Given the description of an element on the screen output the (x, y) to click on. 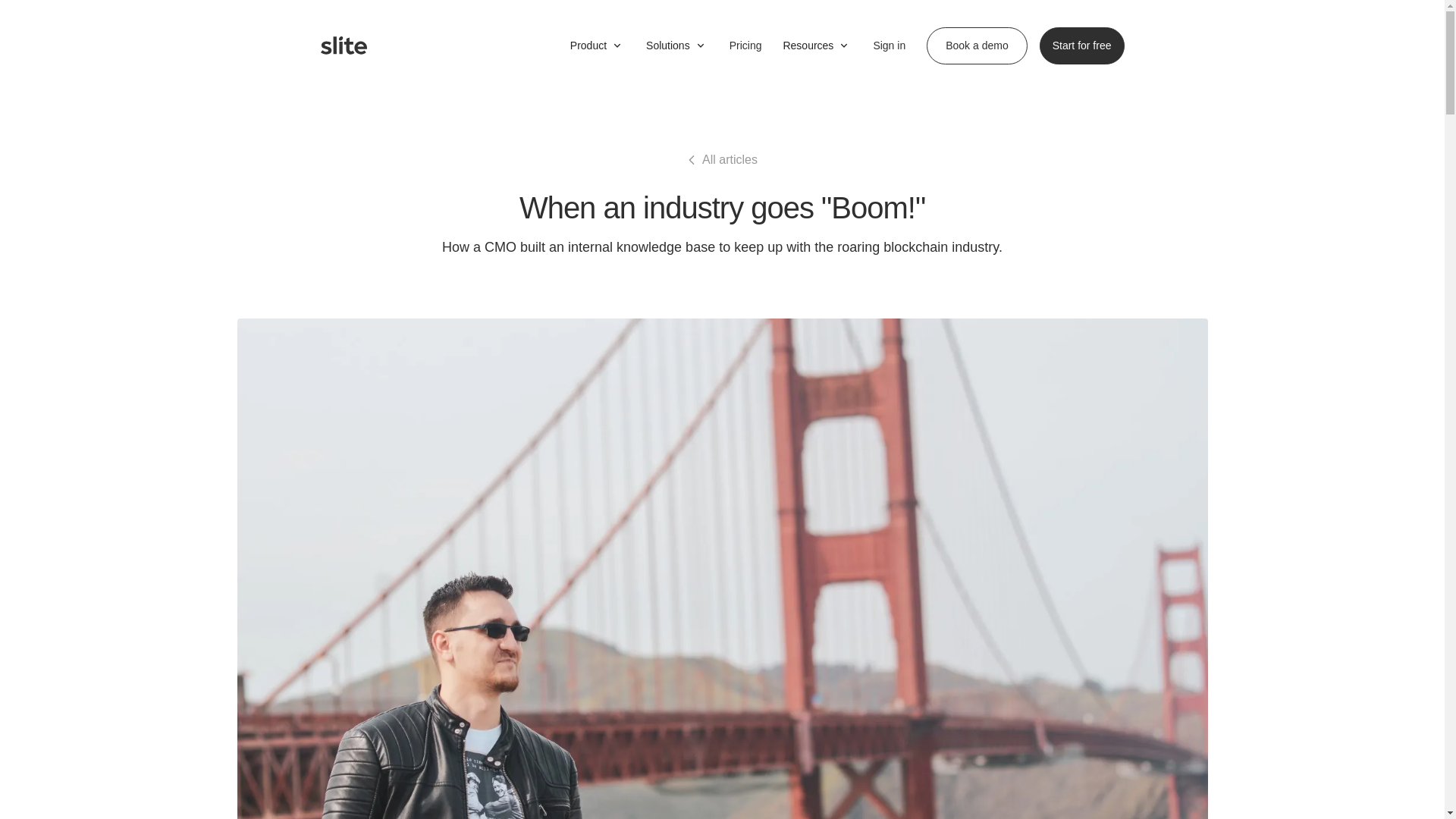
Book a demo (976, 45)
Pricing (744, 45)
All articles (722, 159)
Start for free (1081, 45)
Sign in (887, 44)
